Given the description of an element on the screen output the (x, y) to click on. 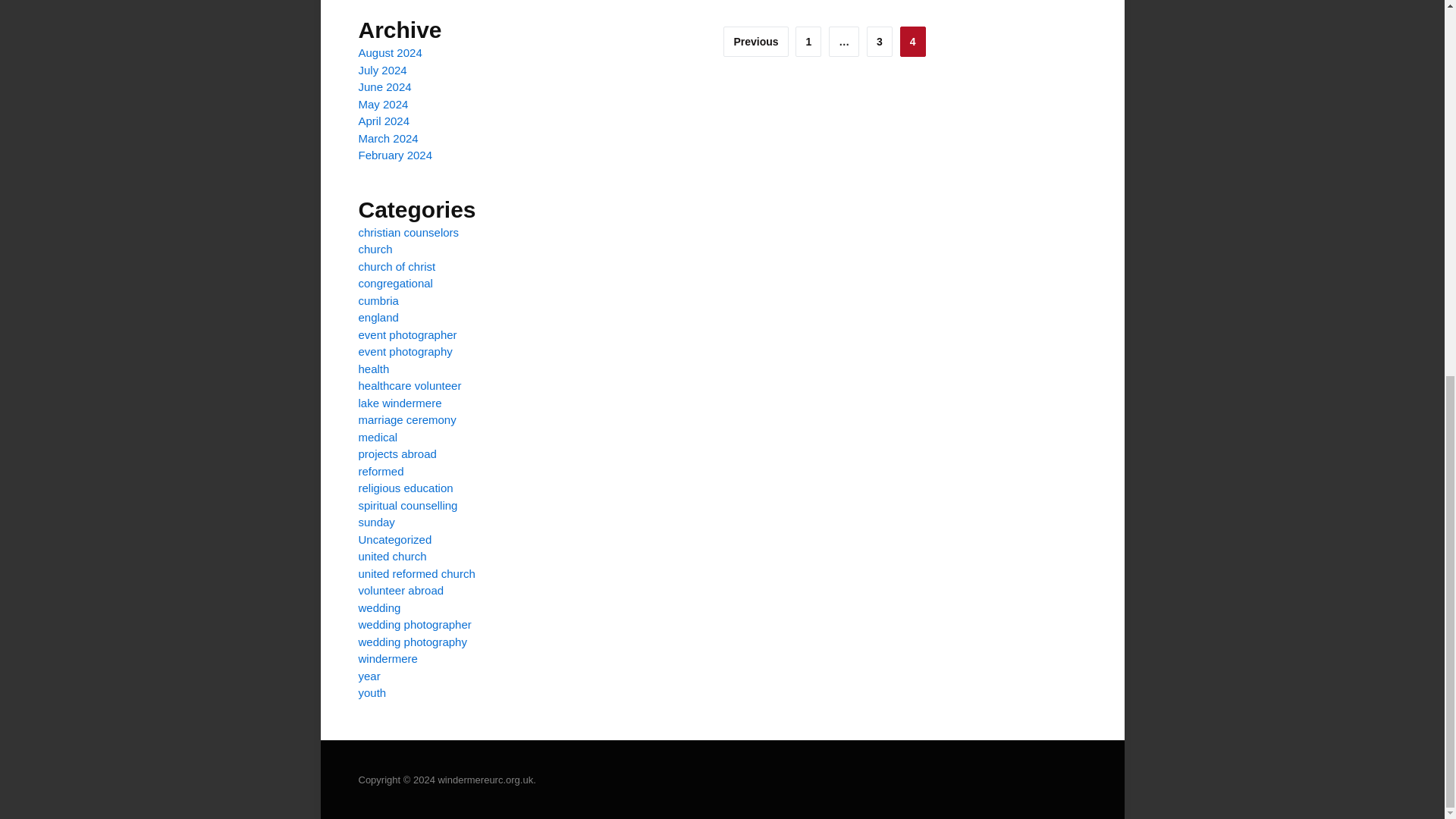
April 2024 (383, 120)
health (373, 368)
england (377, 317)
christian counselors (408, 232)
event photographer (407, 334)
medical (377, 436)
congregational (395, 282)
church of christ (396, 266)
June 2024 (384, 86)
church (374, 248)
